Given the description of an element on the screen output the (x, y) to click on. 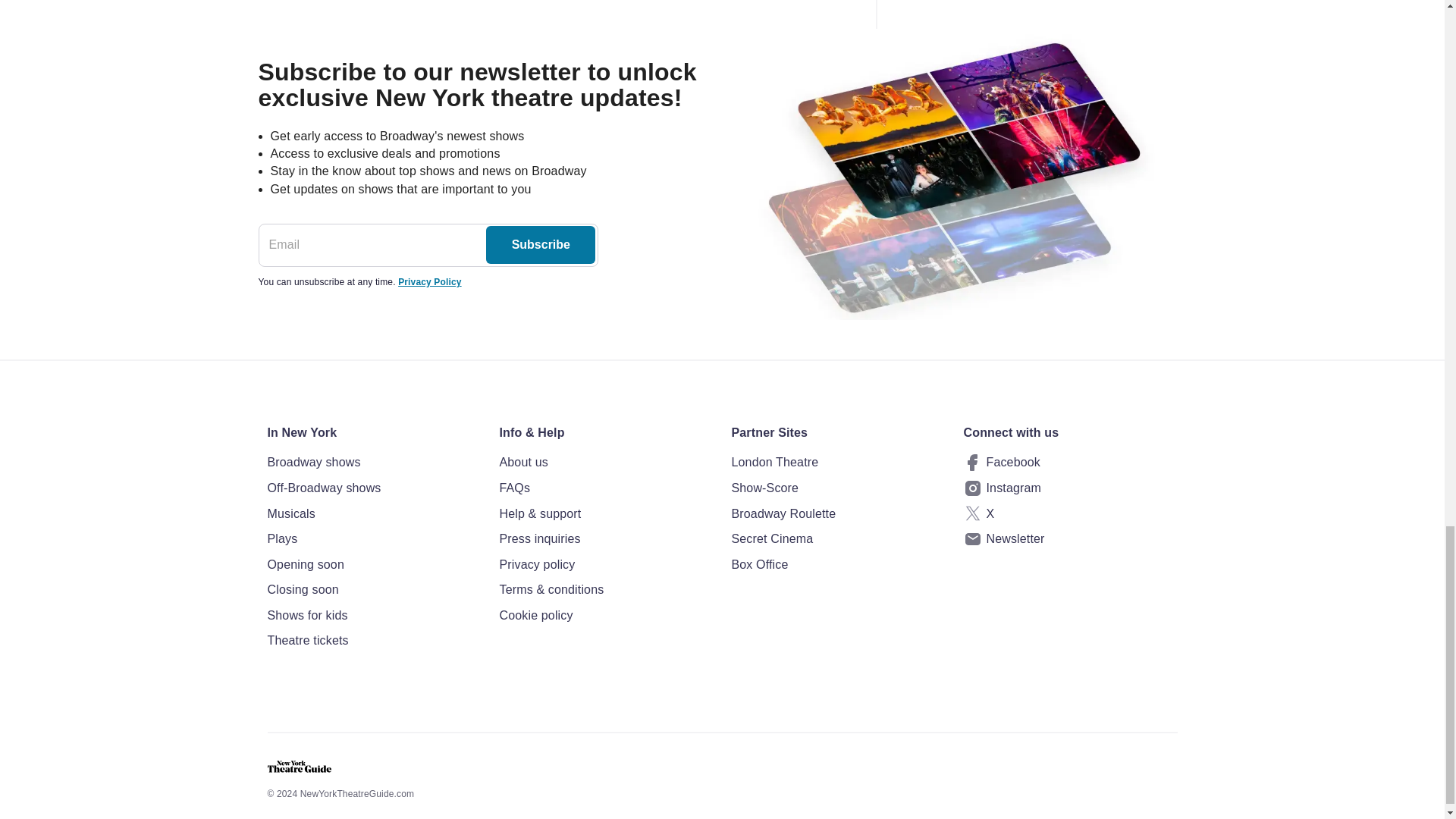
Musicals (373, 514)
Closing soon (373, 589)
Off-Broadway shows (373, 487)
Shows for kids (373, 615)
Plays (373, 538)
Opening soon (373, 564)
Broadway shows (373, 462)
